Given the description of an element on the screen output the (x, y) to click on. 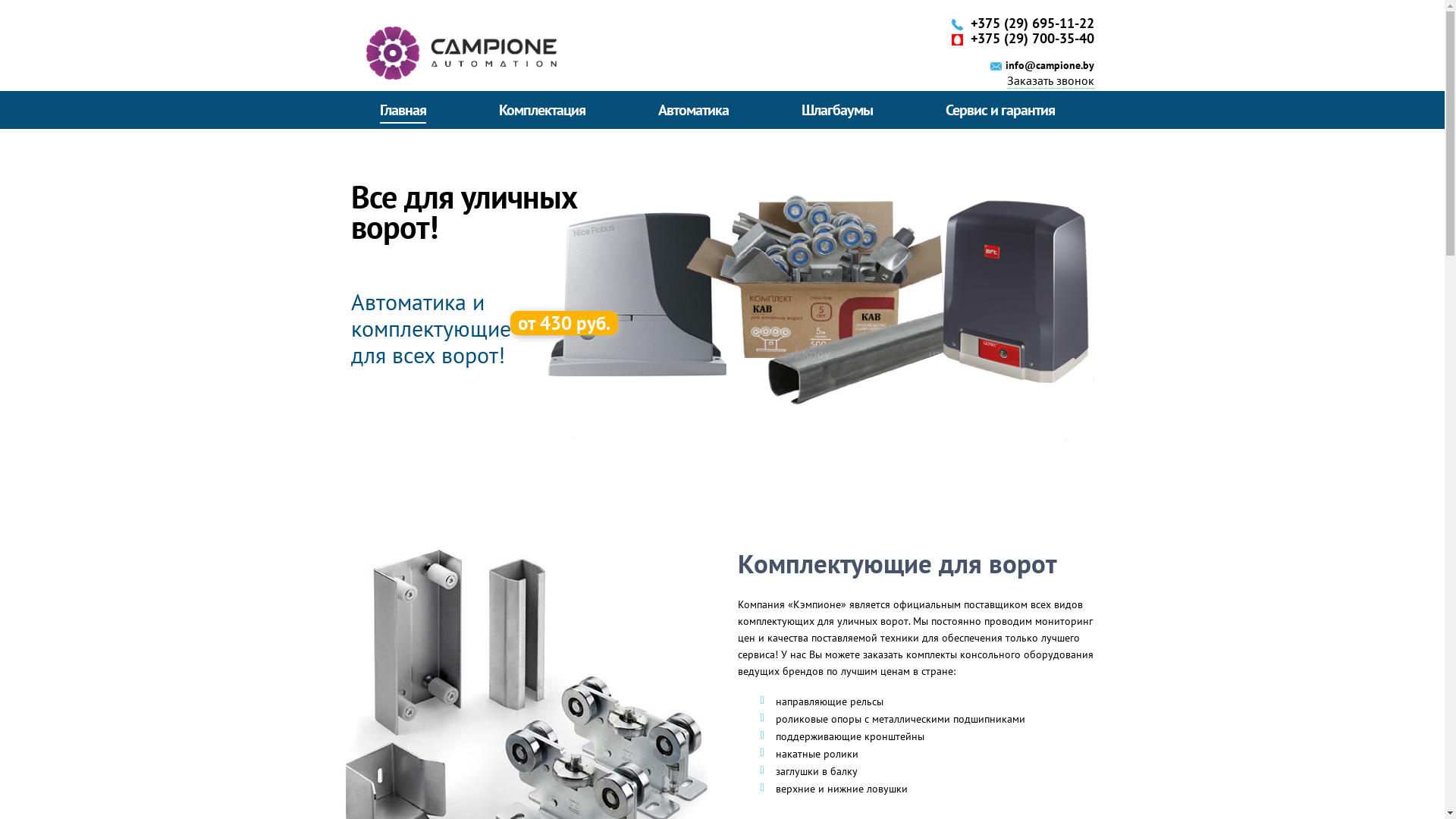
+375 (29) 700-35-40 Element type: text (1032, 38)
info@campione.by Element type: text (1049, 65)
+375 (29) 695-11-22 Element type: text (1032, 22)
